Given the description of an element on the screen output the (x, y) to click on. 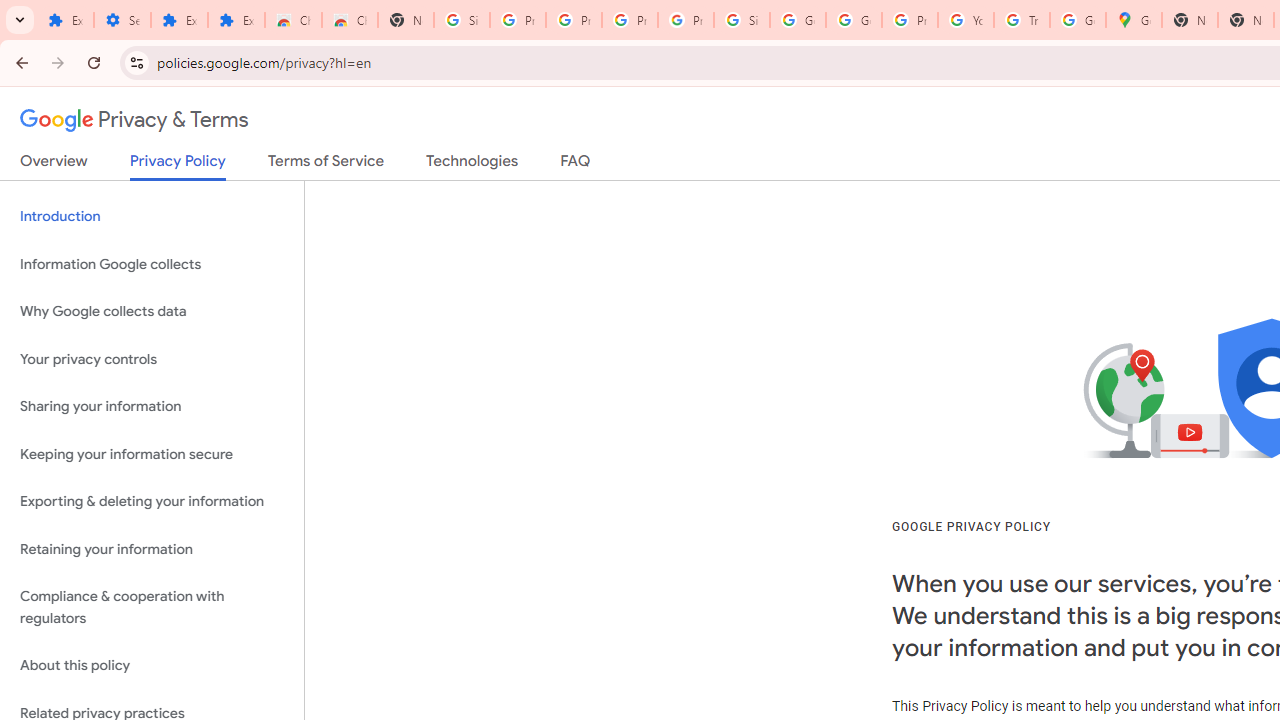
Sign in - Google Accounts (461, 20)
Exporting & deleting your information (152, 502)
Extensions (179, 20)
Google Maps (1133, 20)
About this policy (152, 666)
Your privacy controls (152, 358)
